Given the description of an element on the screen output the (x, y) to click on. 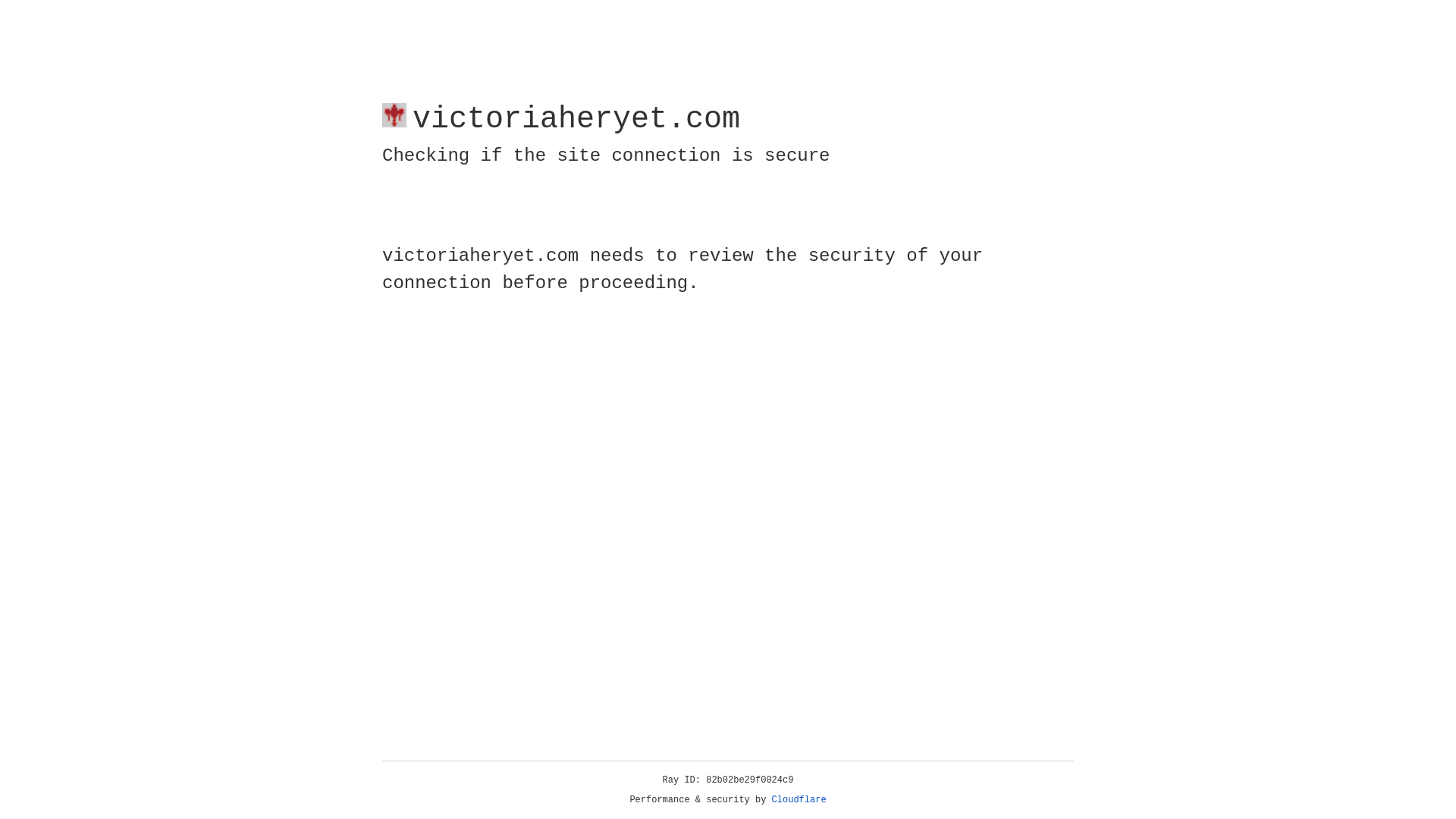
Cloudflare Element type: text (798, 799)
